Given the description of an element on the screen output the (x, y) to click on. 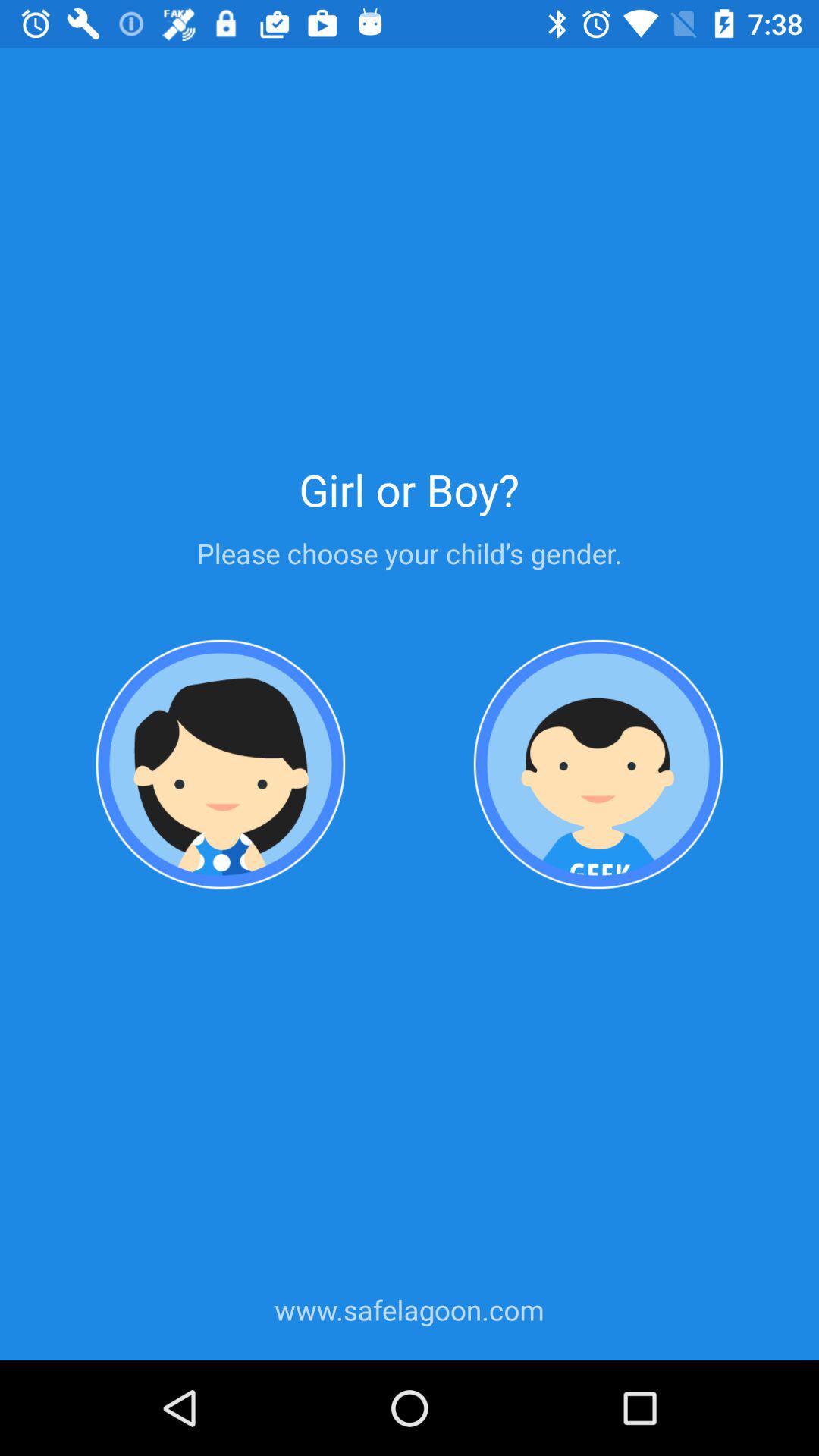
profile setting page (598, 765)
